Given the description of an element on the screen output the (x, y) to click on. 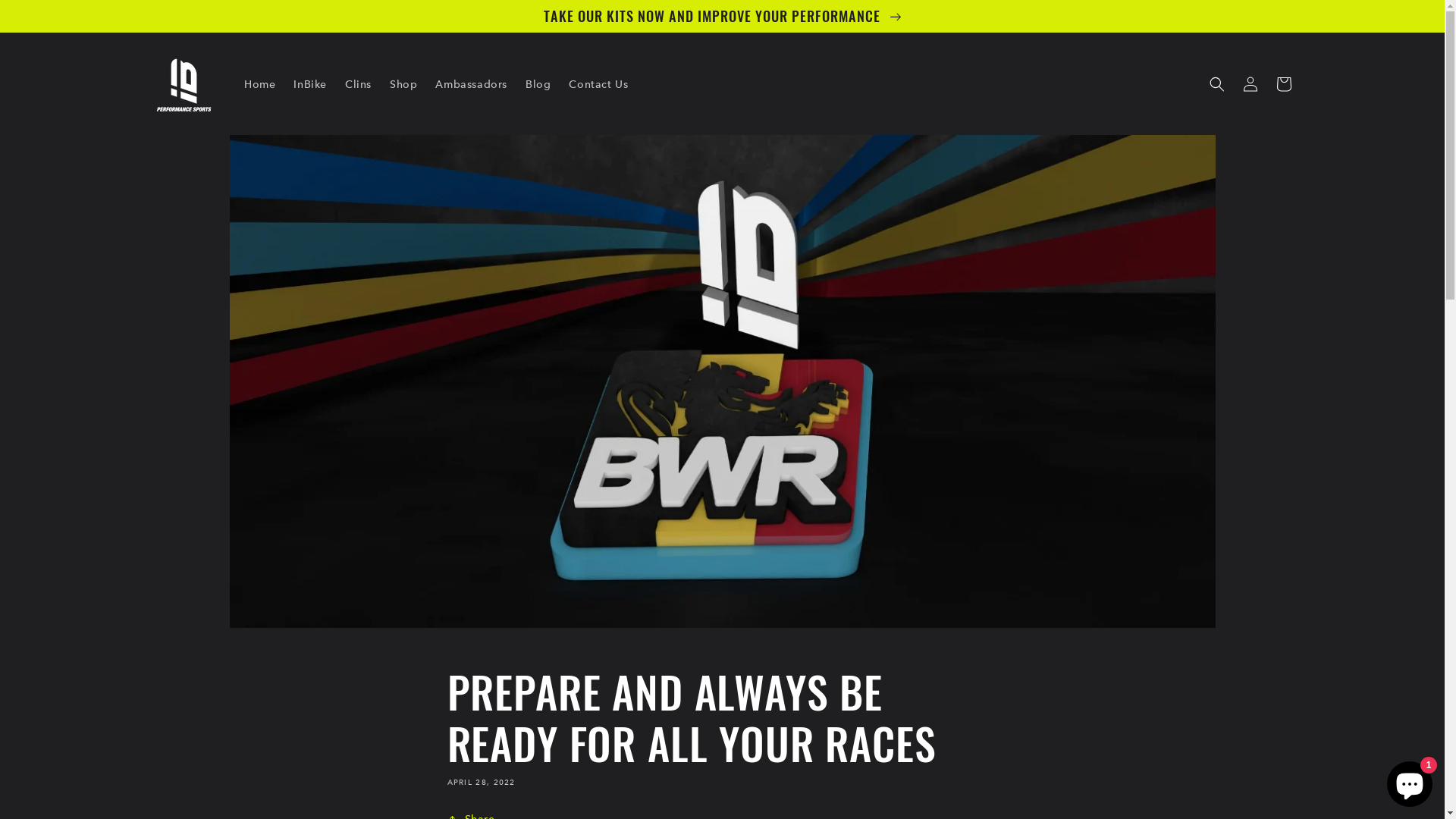
Home Element type: text (259, 84)
Blog Element type: text (537, 84)
Shopify online store chat Element type: hover (1409, 780)
TAKE OUR KITS NOW AND IMPROVE YOUR PERFORMANCE Element type: text (722, 15)
Ambassadors Element type: text (471, 84)
Log in Element type: text (1249, 83)
Shop Element type: text (403, 84)
Cart Element type: text (1282, 83)
Clins Element type: text (357, 84)
Contact Us Element type: text (598, 84)
InBike Element type: text (309, 84)
